Given the description of an element on the screen output the (x, y) to click on. 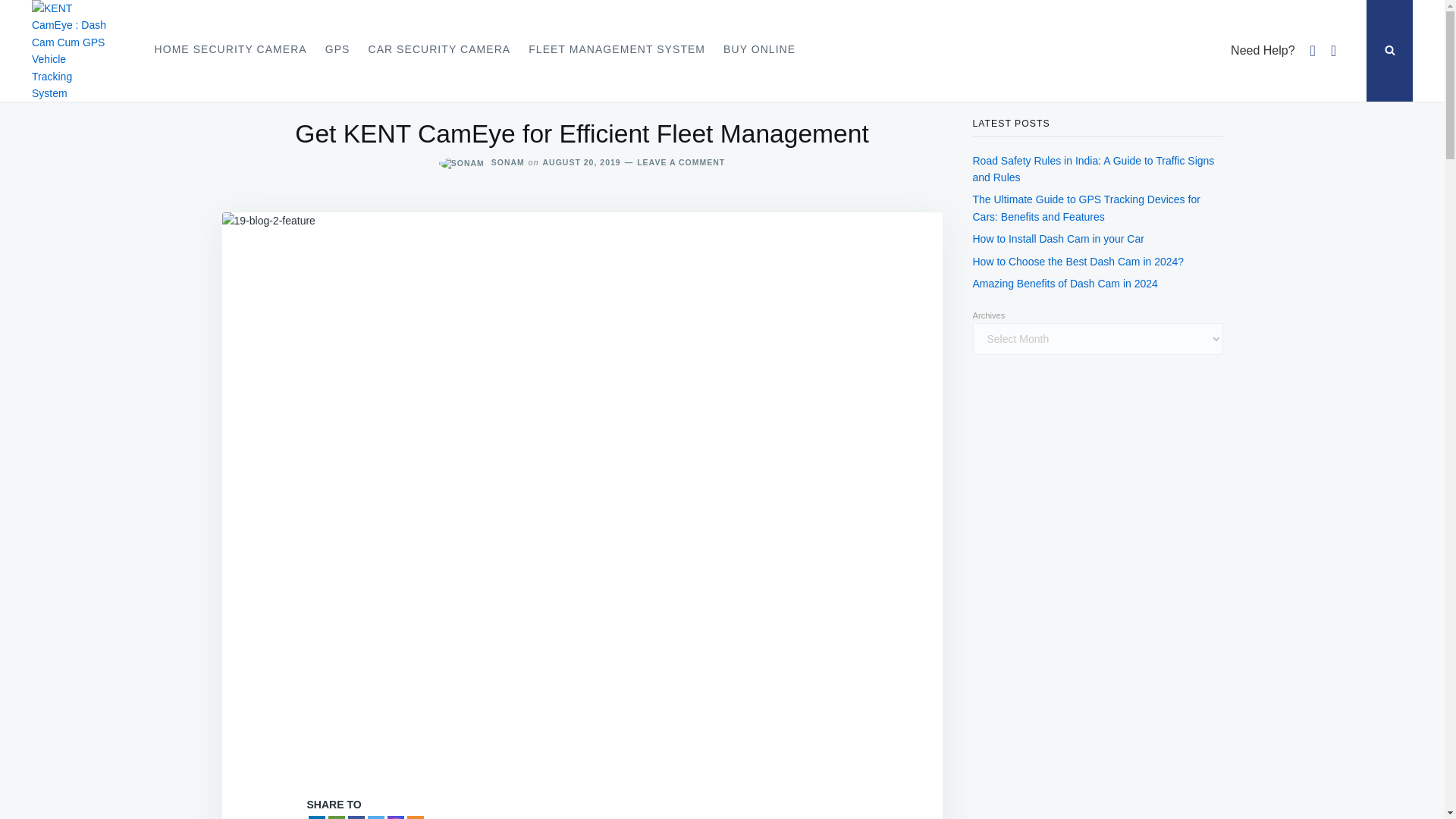
CAR SECURITY CAMERA (438, 50)
FLEET MANAGEMENT SYSTEM (616, 50)
Instagram (395, 817)
GPS (337, 50)
Twitter (375, 817)
Facebook (355, 817)
SONAM (508, 162)
More (414, 817)
Linkedin (315, 817)
Blog (123, 60)
Home (32, 60)
Email (335, 817)
HOME SECURITY CAMERA (230, 50)
BUY ONLINE (759, 50)
